Given the description of an element on the screen output the (x, y) to click on. 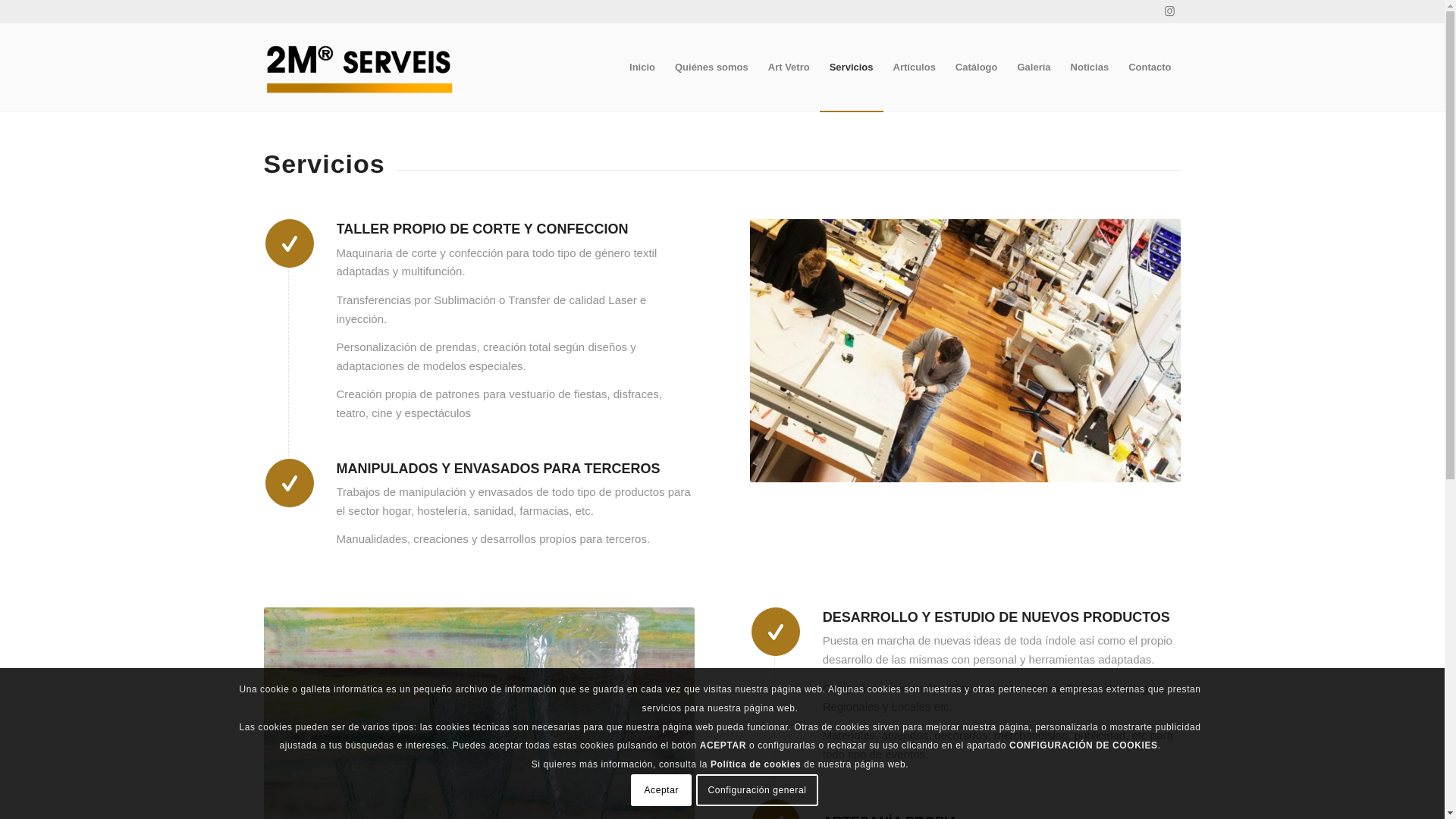
Aceptar Element type: text (660, 790)
Servicios Element type: text (851, 67)
Inicio Element type: text (642, 67)
Instagram Element type: hover (1169, 11)
Noticias Element type: text (1089, 67)
Contacto Element type: text (1149, 67)
Art Vetro Element type: text (788, 67)
